Given the description of an element on the screen output the (x, y) to click on. 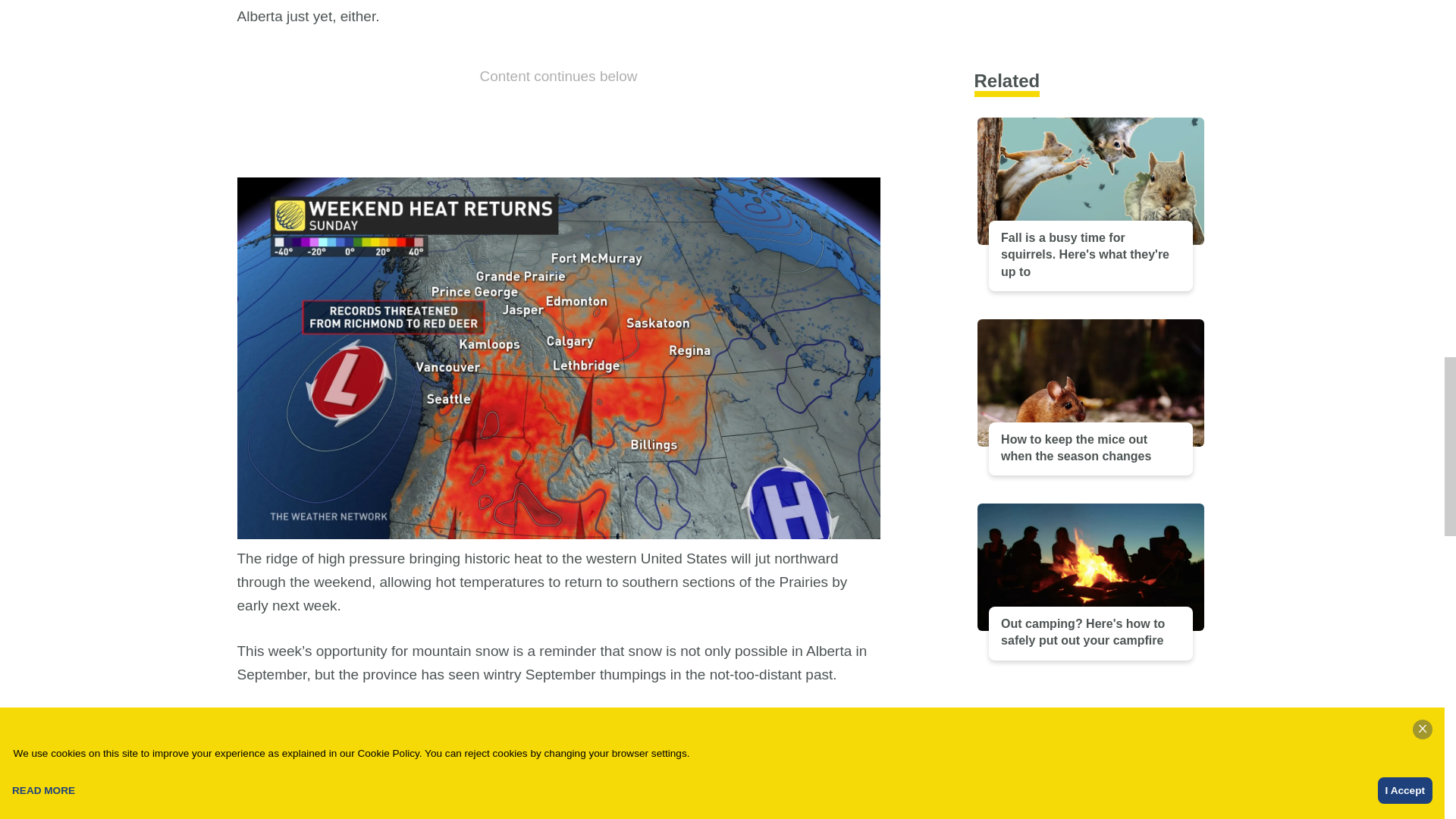
How to keep the mice out when the season changes (498, 719)
Fall is a busy time for squirrels. Here's what they're up to (1090, 73)
How to keep the mice out when the season changes (1090, 239)
Out camping? Here's how to safely put out your campfire (1090, 424)
